Given the description of an element on the screen output the (x, y) to click on. 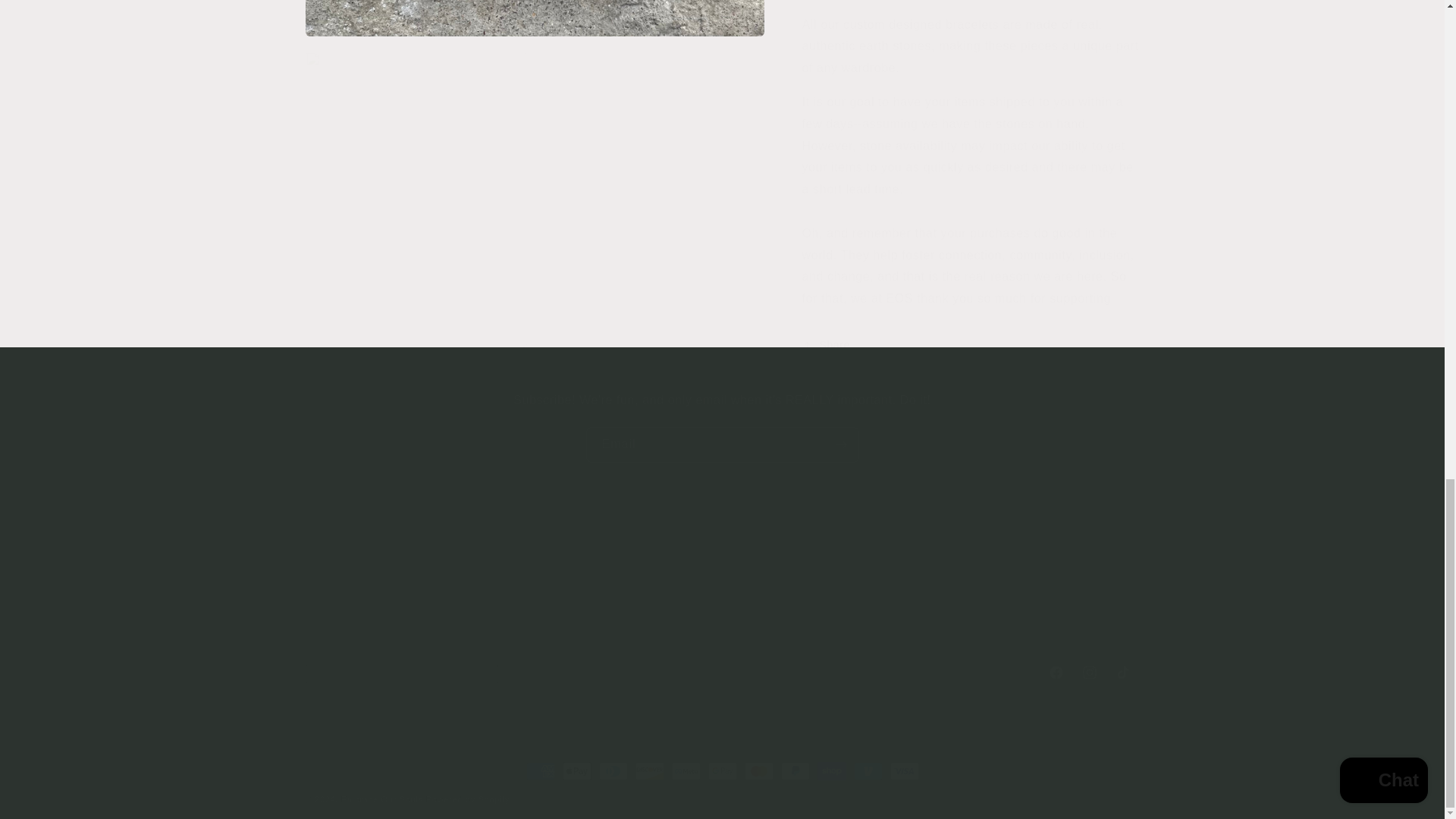
Thank you for visiting (721, 672)
Email (722, 579)
